Given the description of an element on the screen output the (x, y) to click on. 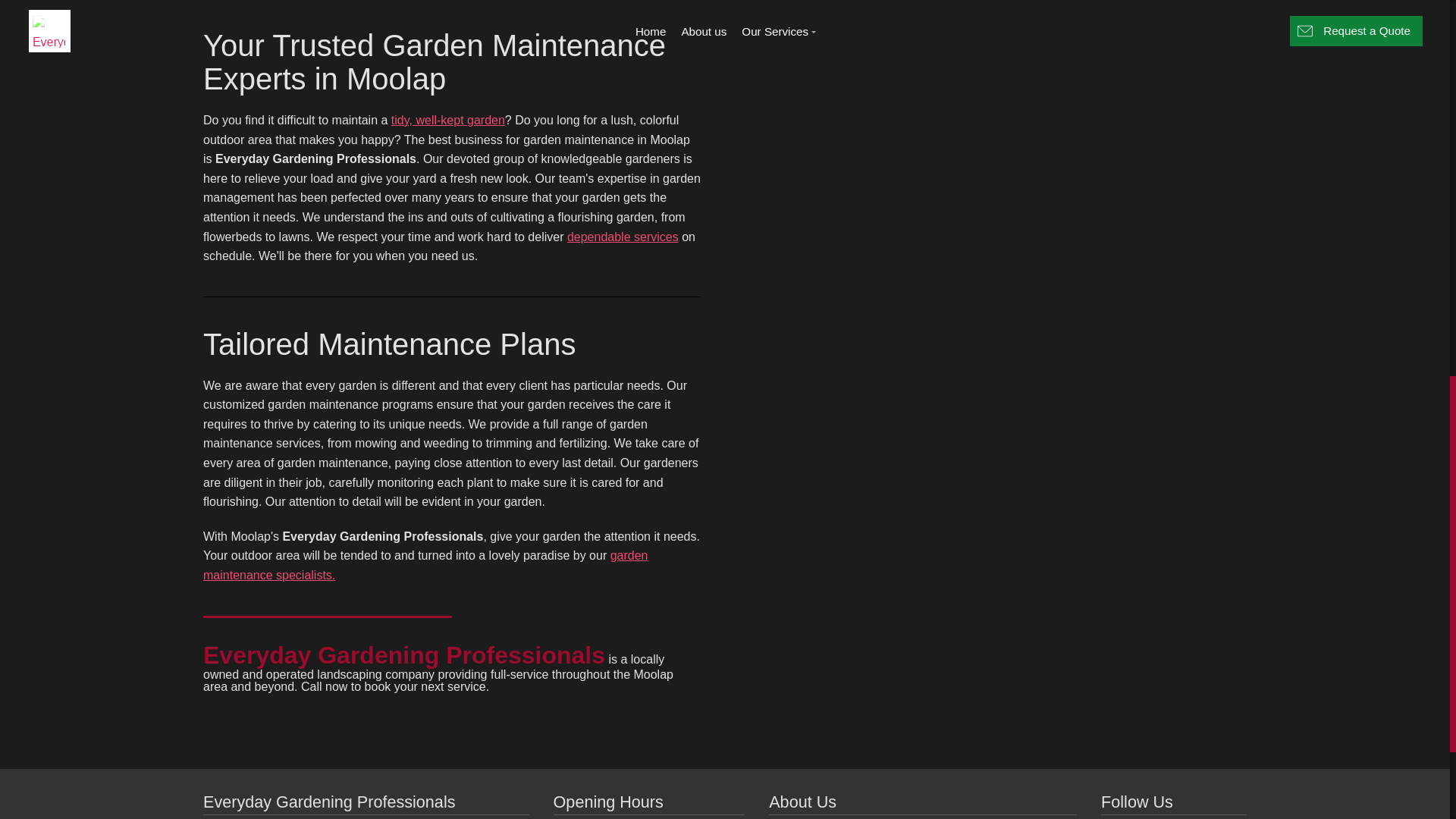
tidy, well-kept garden (448, 119)
dependable services (622, 236)
garden maintenance specialists. (425, 564)
